Given the description of an element on the screen output the (x, y) to click on. 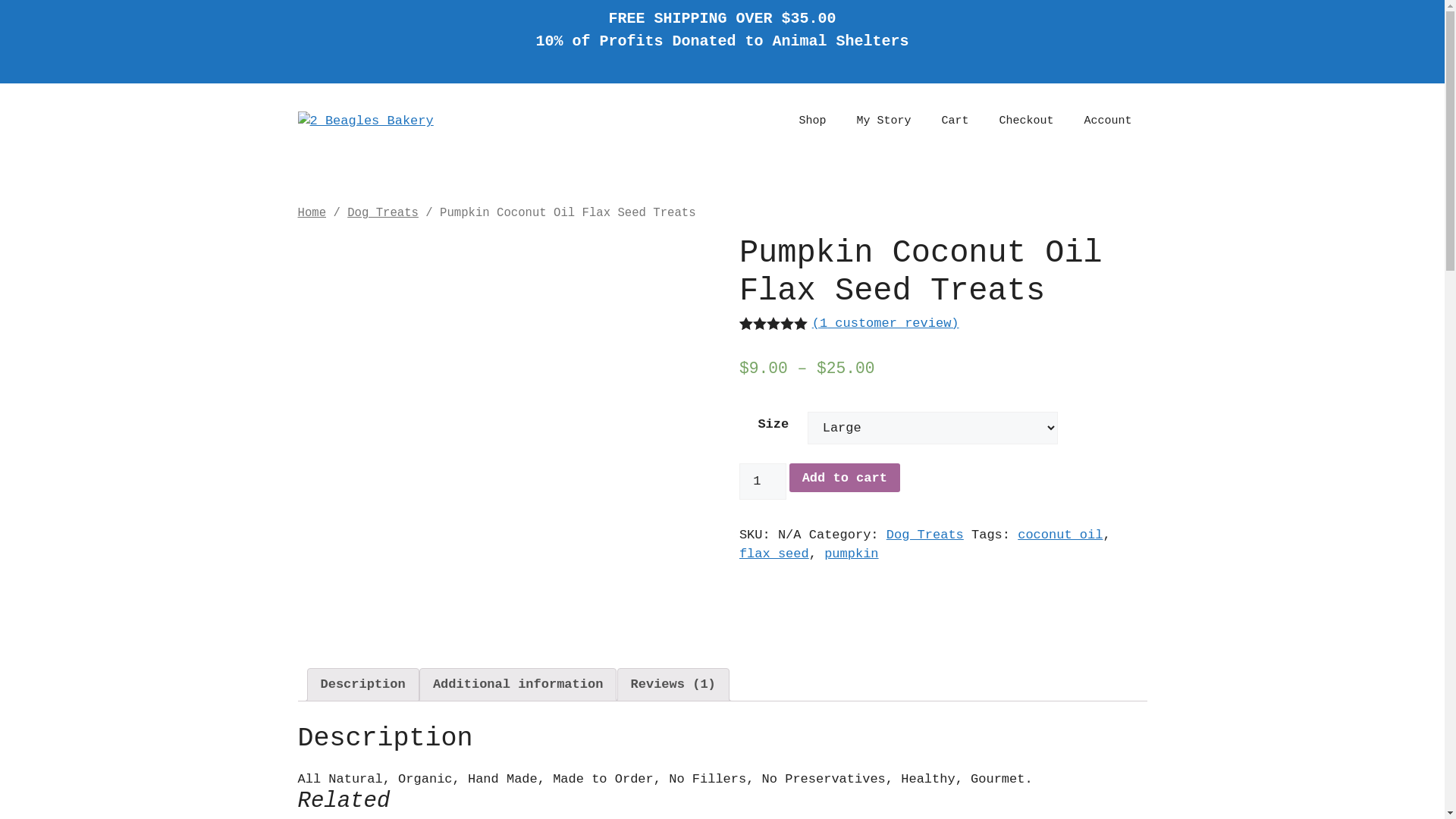
Additional information Element type: text (517, 684)
Add to cart Element type: text (844, 477)
Shop Element type: text (811, 121)
Description Element type: text (362, 684)
coconut oil Element type: text (1059, 534)
Reviews (1) Element type: text (672, 684)
(1 customer review) Element type: text (885, 323)
Cart Element type: text (954, 121)
Dog Treats Element type: text (924, 534)
My Story Element type: text (882, 121)
Qty Element type: hover (762, 481)
Home Element type: text (311, 212)
Checkout Element type: text (1025, 121)
Dog Treats Element type: text (382, 212)
flax seed Element type: text (774, 553)
pumpkin Element type: text (851, 553)
Account Element type: text (1107, 121)
